Given the description of an element on the screen output the (x, y) to click on. 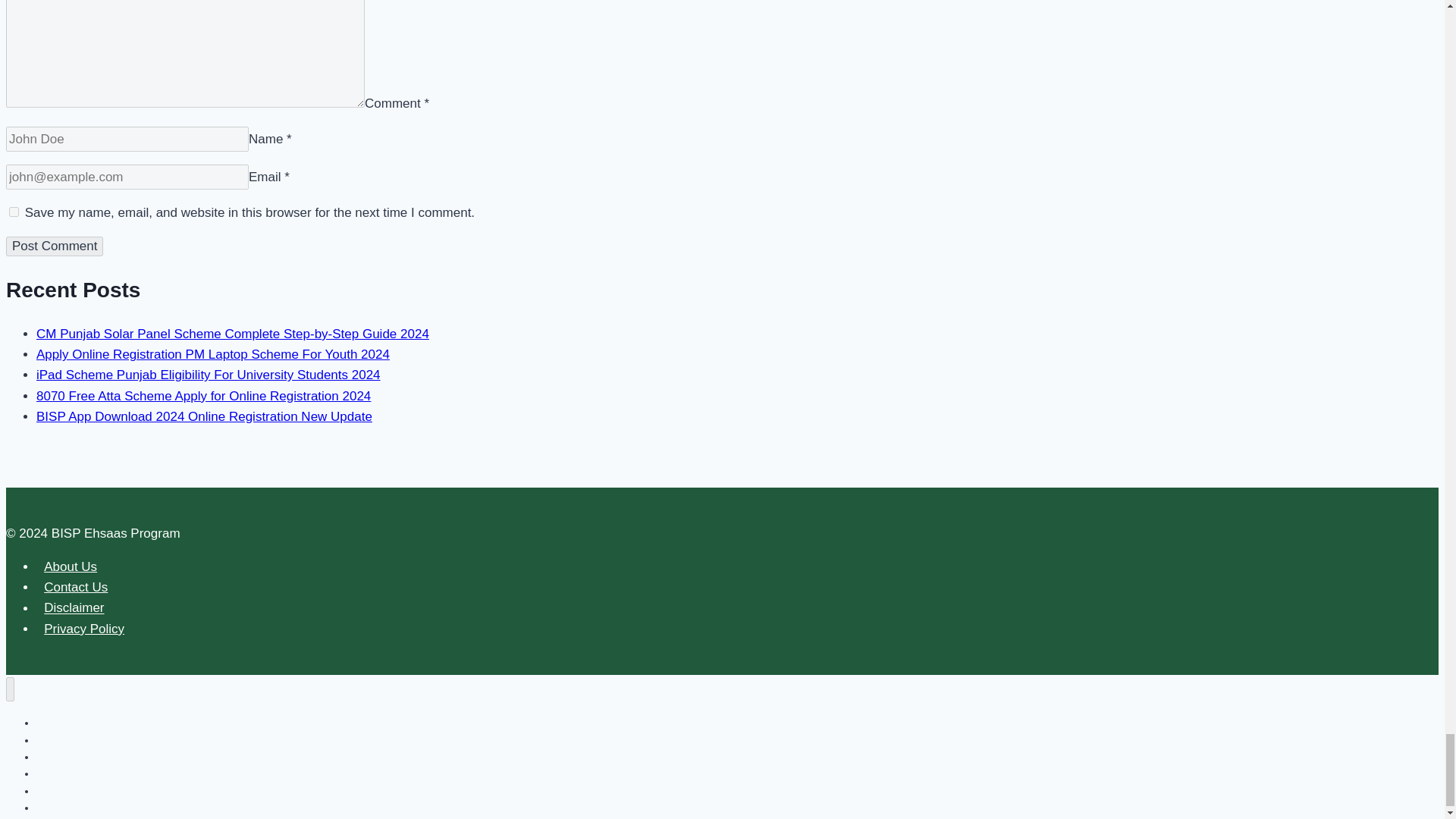
Post Comment (54, 246)
yes (13, 212)
